Given the description of an element on the screen output the (x, y) to click on. 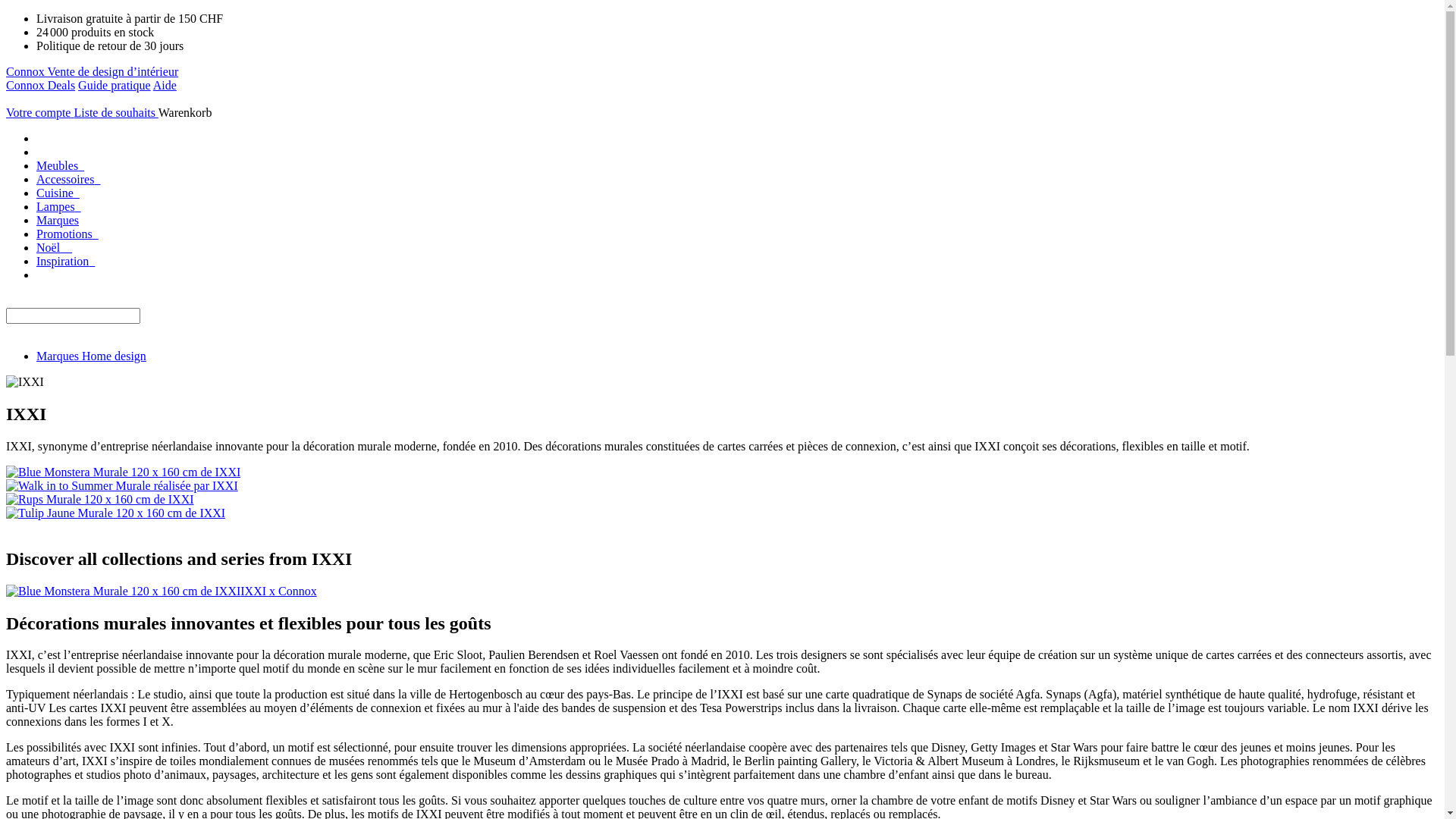
Meubles   Element type: text (60, 165)
IXXI - Walk in to Summer Murale Element type: hover (122, 485)
Aide Element type: text (164, 84)
Accessoires   Element type: text (68, 178)
Inspiration   Element type: text (65, 260)
IXXI x Connox Element type: text (161, 590)
Votre compte Element type: text (39, 112)
IXXI - Rups Murale Element type: hover (100, 498)
IXXI - Tulip Jaune Murale Element type: hover (115, 512)
Marques Element type: text (57, 219)
Lampes   Element type: text (58, 206)
Liste de souhaits Element type: text (115, 112)
Marques Home design Element type: text (91, 355)
Cuisine   Element type: text (57, 192)
IXXI - Blue Monstera Murale Element type: hover (123, 471)
Guide pratique Element type: text (114, 84)
Promotions   Element type: text (67, 233)
Connox Deals Element type: text (40, 84)
